Given the description of an element on the screen output the (x, y) to click on. 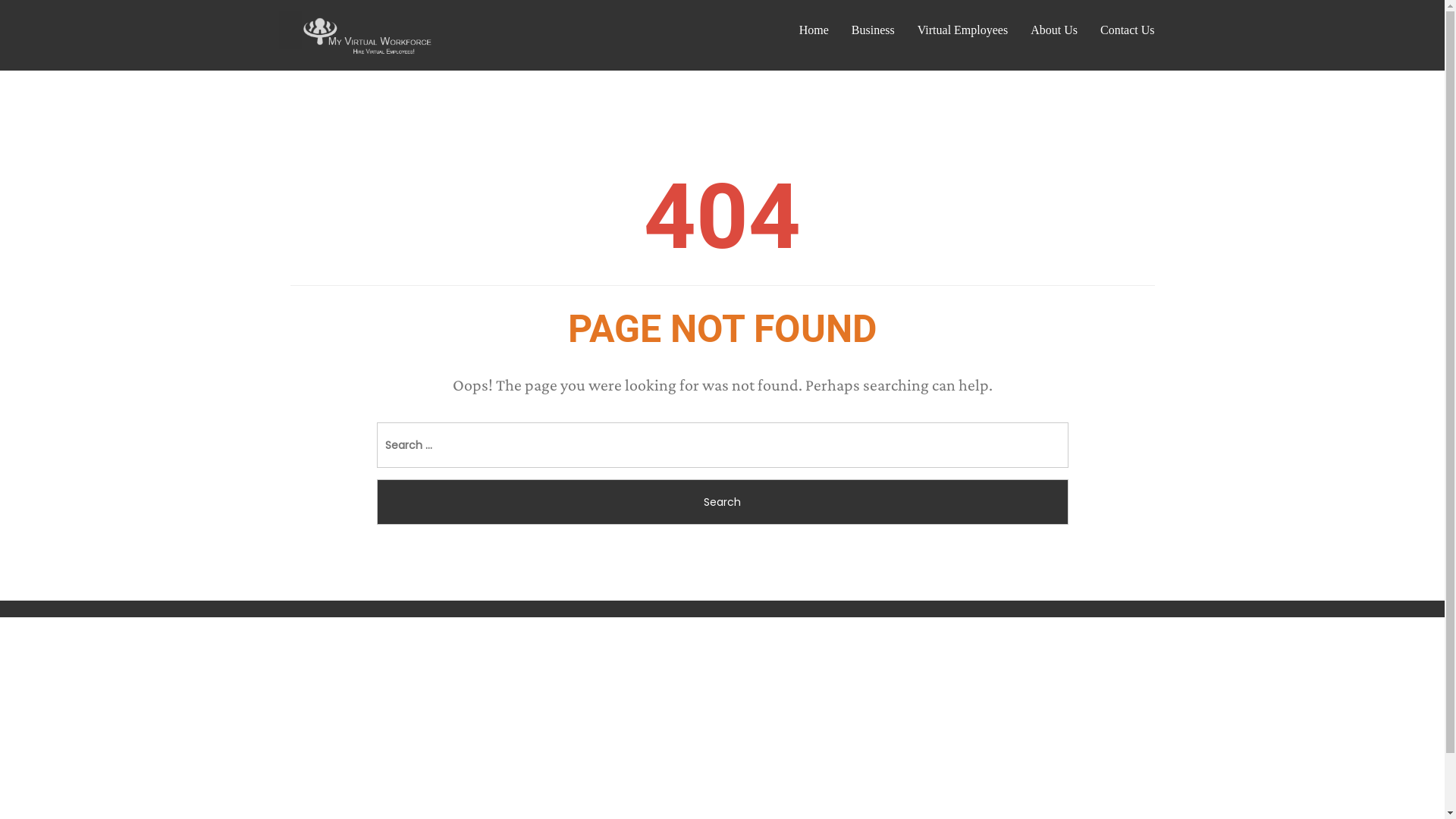
Home Element type: text (813, 30)
Search Element type: text (721, 501)
Contact Us Element type: text (1127, 30)
About Us Element type: text (1053, 30)
Business Element type: text (873, 30)
Virtual Employees Element type: text (962, 30)
